Given the description of an element on the screen output the (x, y) to click on. 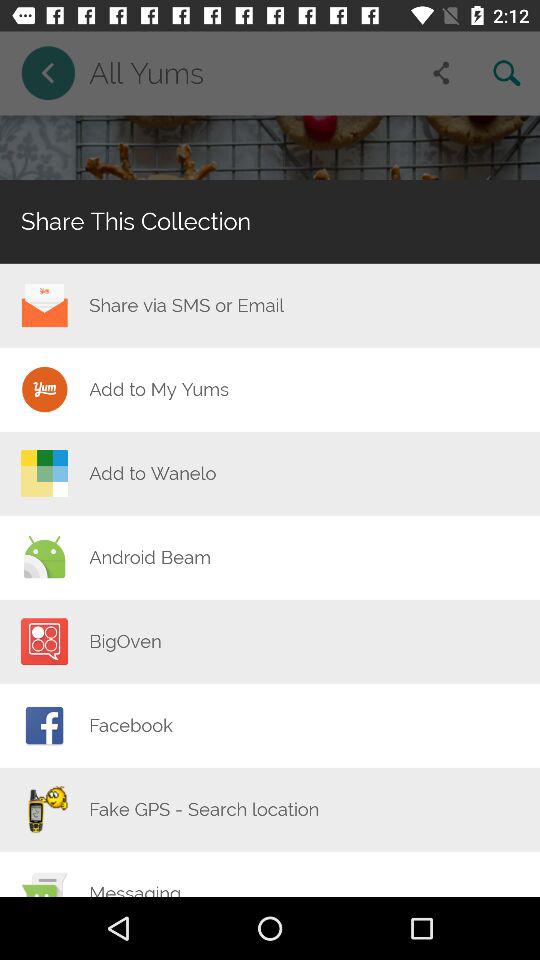
choose the item above the bigoven (150, 557)
